Given the description of an element on the screen output the (x, y) to click on. 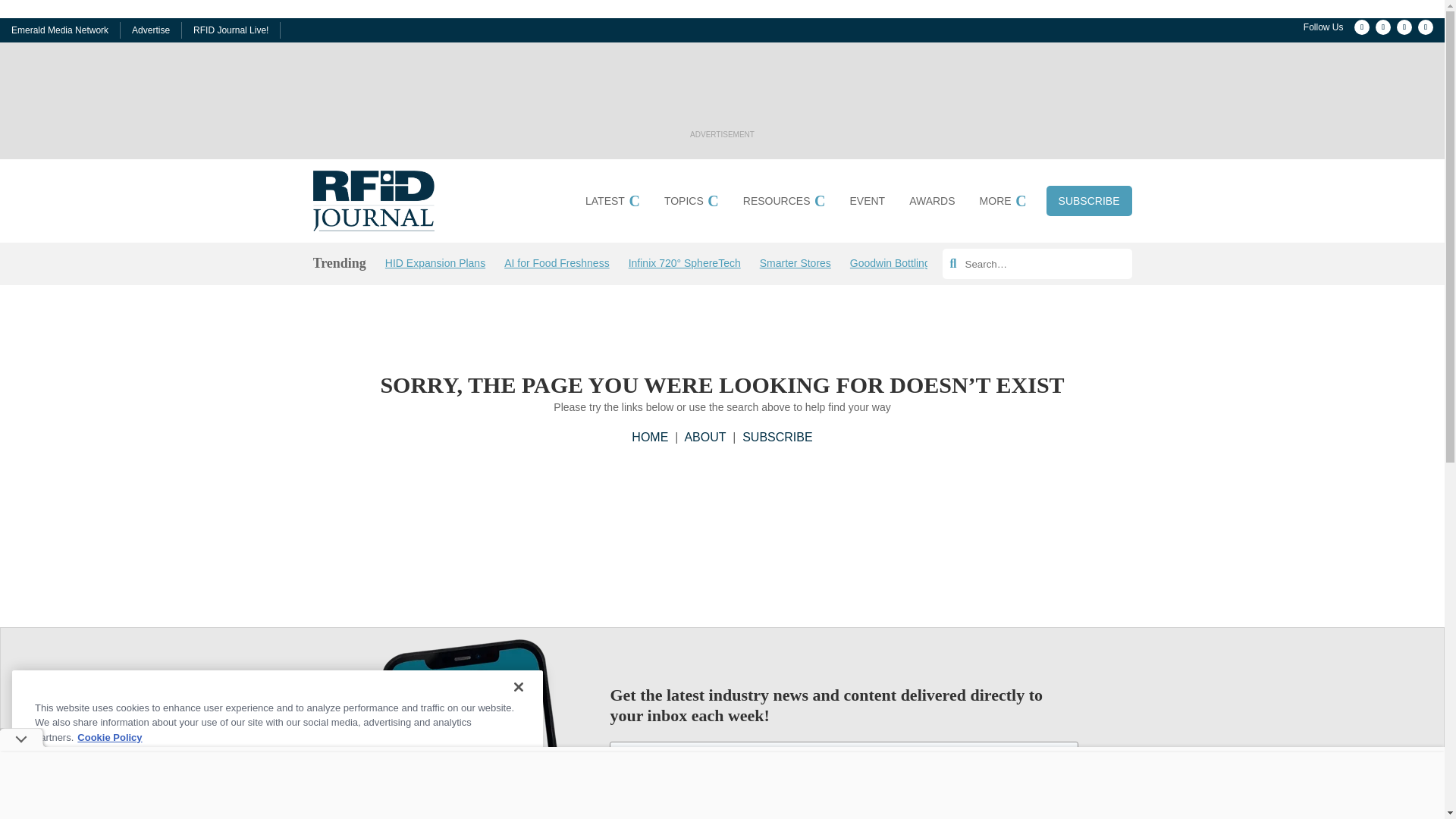
TOPICS (691, 203)
MORE (1002, 203)
Follow on X (1404, 27)
RESOURCES (783, 203)
3rd party ad content (721, 91)
Follow on LinkedIn (1382, 27)
LATEST (612, 203)
Emerald Media Network (59, 30)
AWARDS (931, 203)
Follow on Facebook (1362, 27)
Follow on Youtube (1425, 27)
EVENT (866, 203)
RFID Journal Live! (230, 30)
Advertise (151, 30)
